Given the description of an element on the screen output the (x, y) to click on. 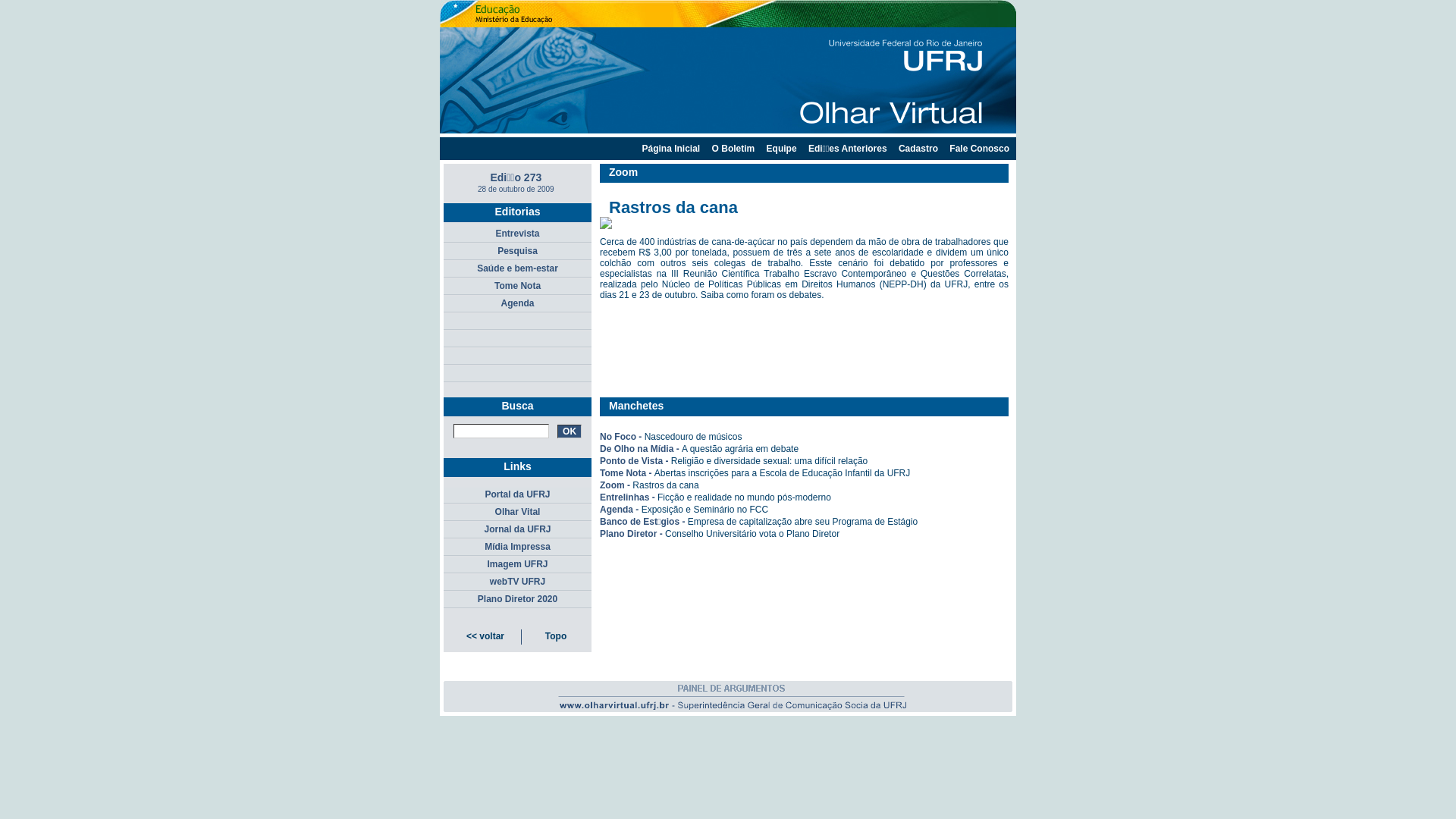
Fale Conosco Element type: text (979, 148)
Olhar Vital Element type: text (517, 512)
webTV UFRJ Element type: text (517, 582)
Jornal da UFRJ Element type: text (517, 530)
Pesquisa Element type: text (517, 252)
O Boletim Element type: text (733, 148)
Portal da UFRJ Element type: text (517, 495)
Topo Element type: text (555, 635)
Rastros da cana Element type: text (665, 485)
Cadastro Element type: text (918, 148)
OK Element type: text (569, 431)
Entrevista Element type: text (517, 234)
Tome Nota Element type: text (517, 286)
<< voltar Element type: text (485, 635)
Olhar Virtual Element type: hover (731, 714)
Plano Diretor 2020 Element type: text (517, 600)
Agenda Element type: text (517, 304)
Imagem UFRJ Element type: text (517, 565)
Equipe Element type: text (781, 148)
